Given the description of an element on the screen output the (x, y) to click on. 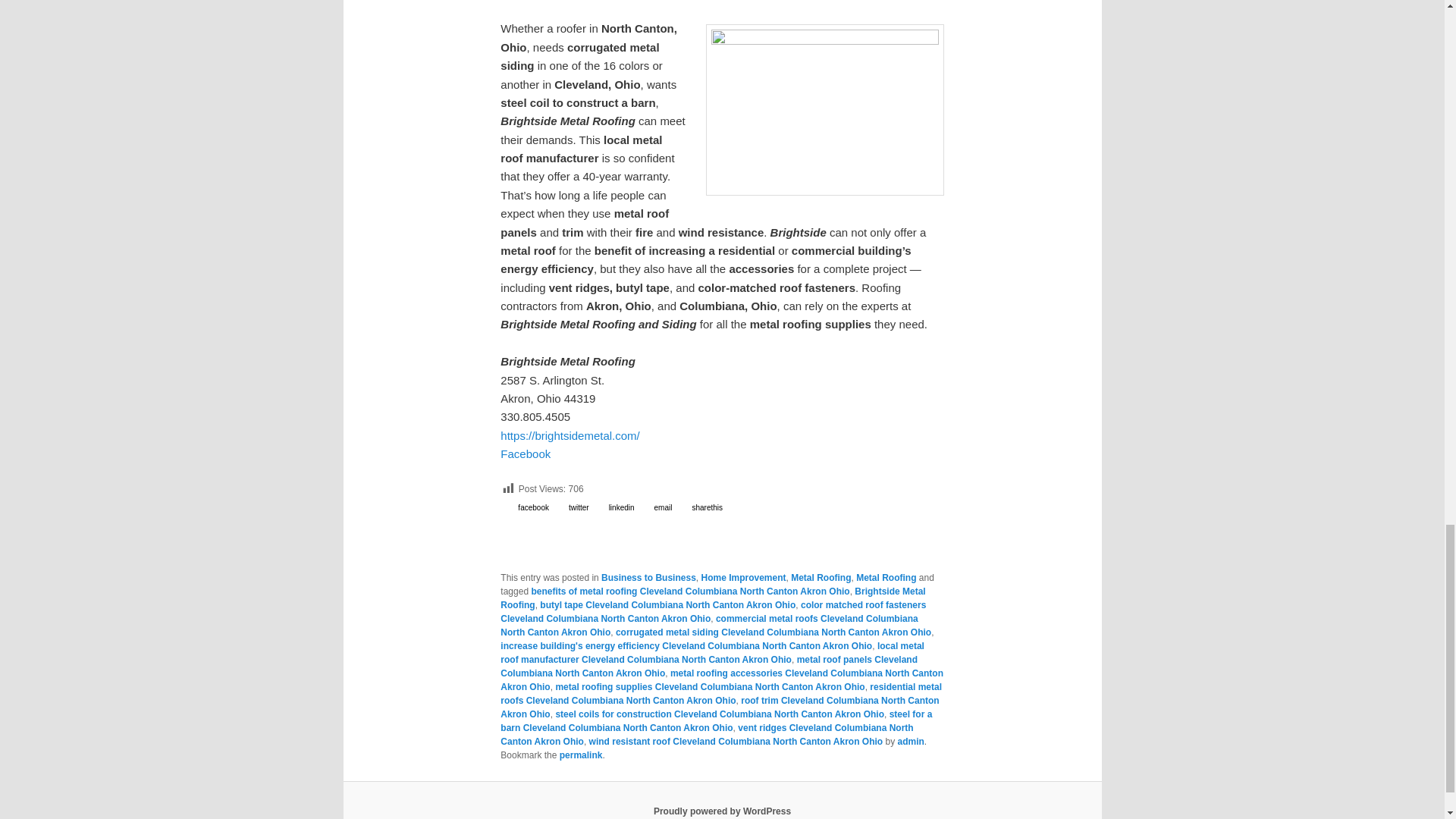
Semantic Personal Publishing Platform (721, 810)
Proudly powered by WordPress (721, 810)
butyl tape Cleveland Columbiana North Canton Akron Ohio (667, 604)
roof trim Cleveland Columbiana North Canton Akron Ohio (719, 707)
Home Improvement (743, 577)
